Given the description of an element on the screen output the (x, y) to click on. 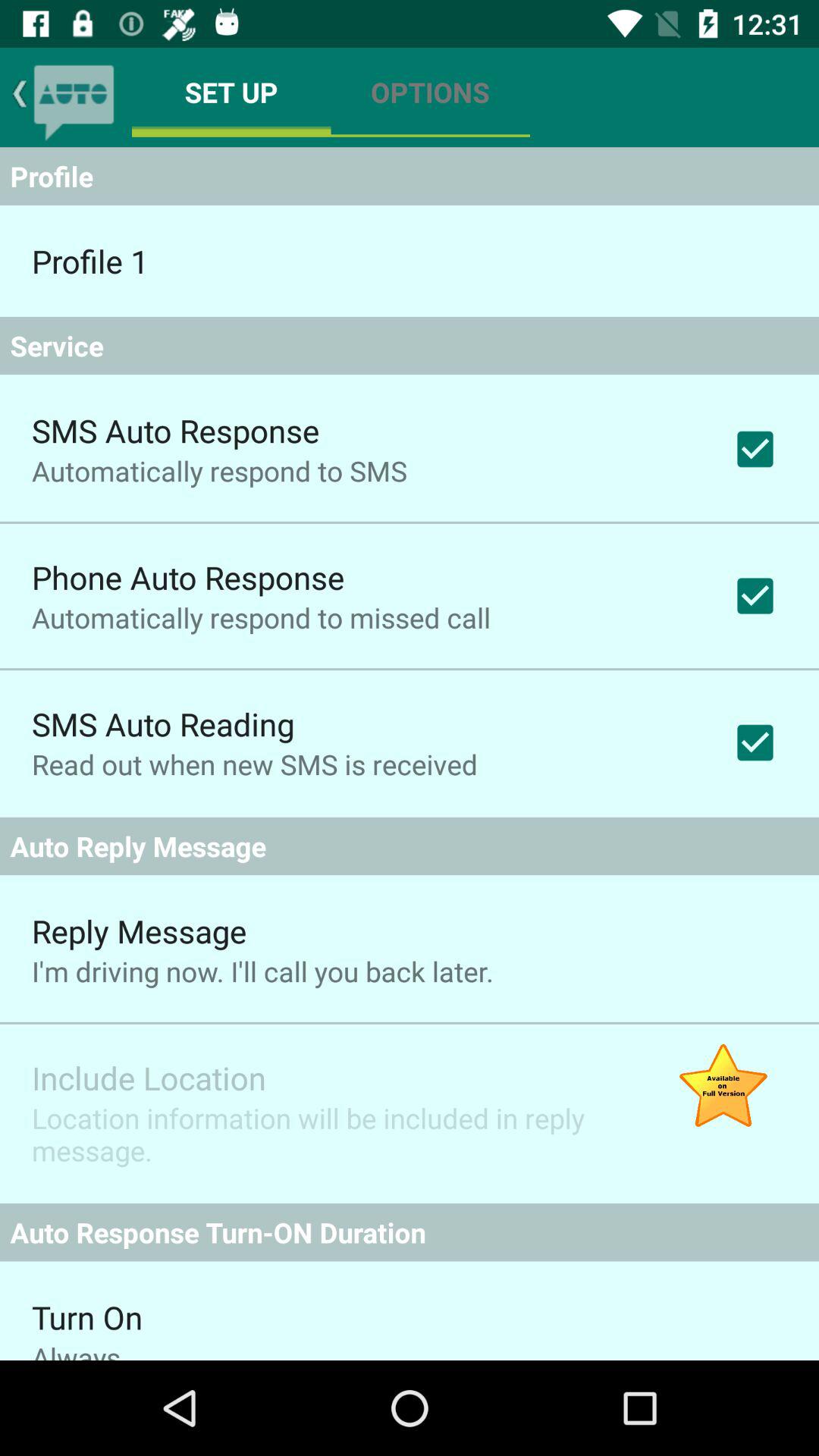
auto response (73, 97)
